Given the description of an element on the screen output the (x, y) to click on. 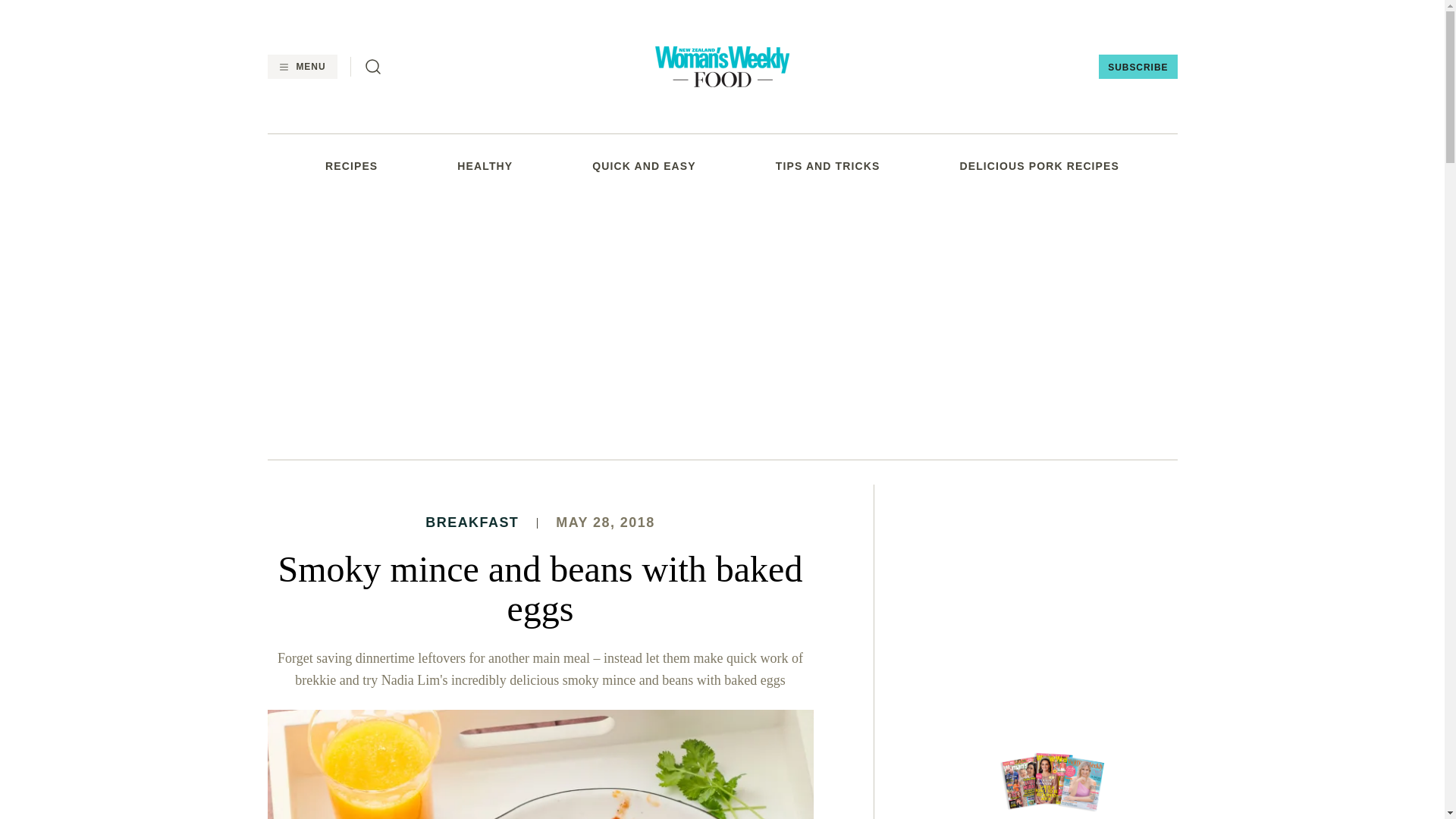
3rd party ad content (1055, 579)
MENU (301, 66)
QUICK AND EASY (643, 165)
RECIPES (350, 165)
DELICIOUS PORK RECIPES (1039, 165)
HEALTHY (484, 165)
TIPS AND TRICKS (828, 165)
3rd party ad content (721, 325)
SUBSCRIBE (1137, 66)
